Given the description of an element on the screen output the (x, y) to click on. 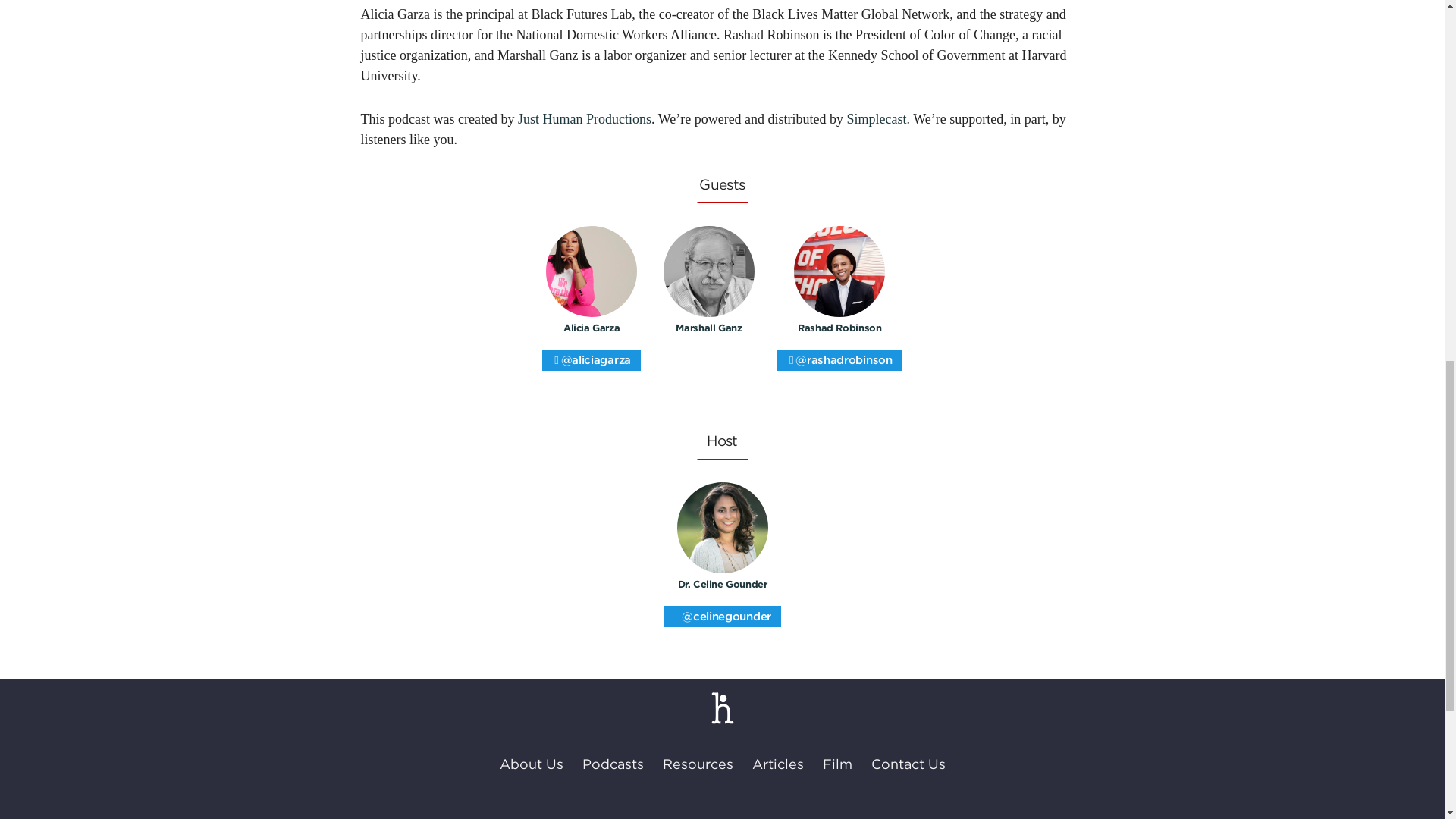
Podcasts (612, 763)
Simplecast (877, 118)
Just Human Productions (584, 118)
Film (836, 763)
Resources (697, 763)
About Us (530, 763)
Articles (777, 763)
